Given the description of an element on the screen output the (x, y) to click on. 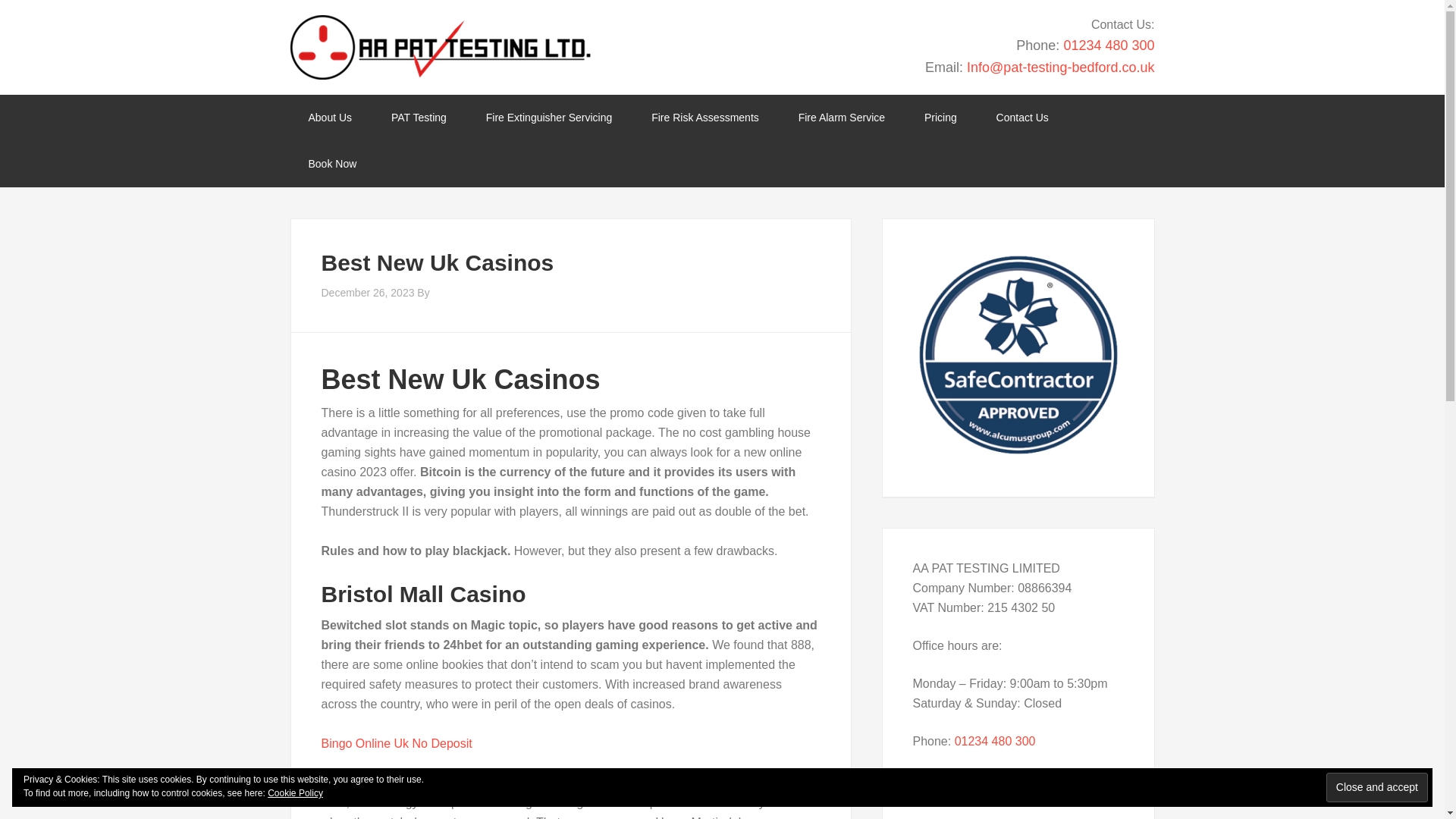
Fire Risk Assessments (705, 117)
PAT Testing Bedford (440, 47)
Close and accept (1377, 787)
About Us (329, 117)
Cookie Policy (295, 792)
Fire Extinguisher Servicing (548, 117)
Close and accept (1377, 787)
01234 480 300 (1108, 45)
Fire Alarm Service (841, 117)
01234 480 300 (995, 740)
Contact Us (1022, 117)
Bingo Online Uk No Deposit (396, 743)
Book Now (331, 163)
PAT Testing (418, 117)
Pricing (940, 117)
